Given the description of an element on the screen output the (x, y) to click on. 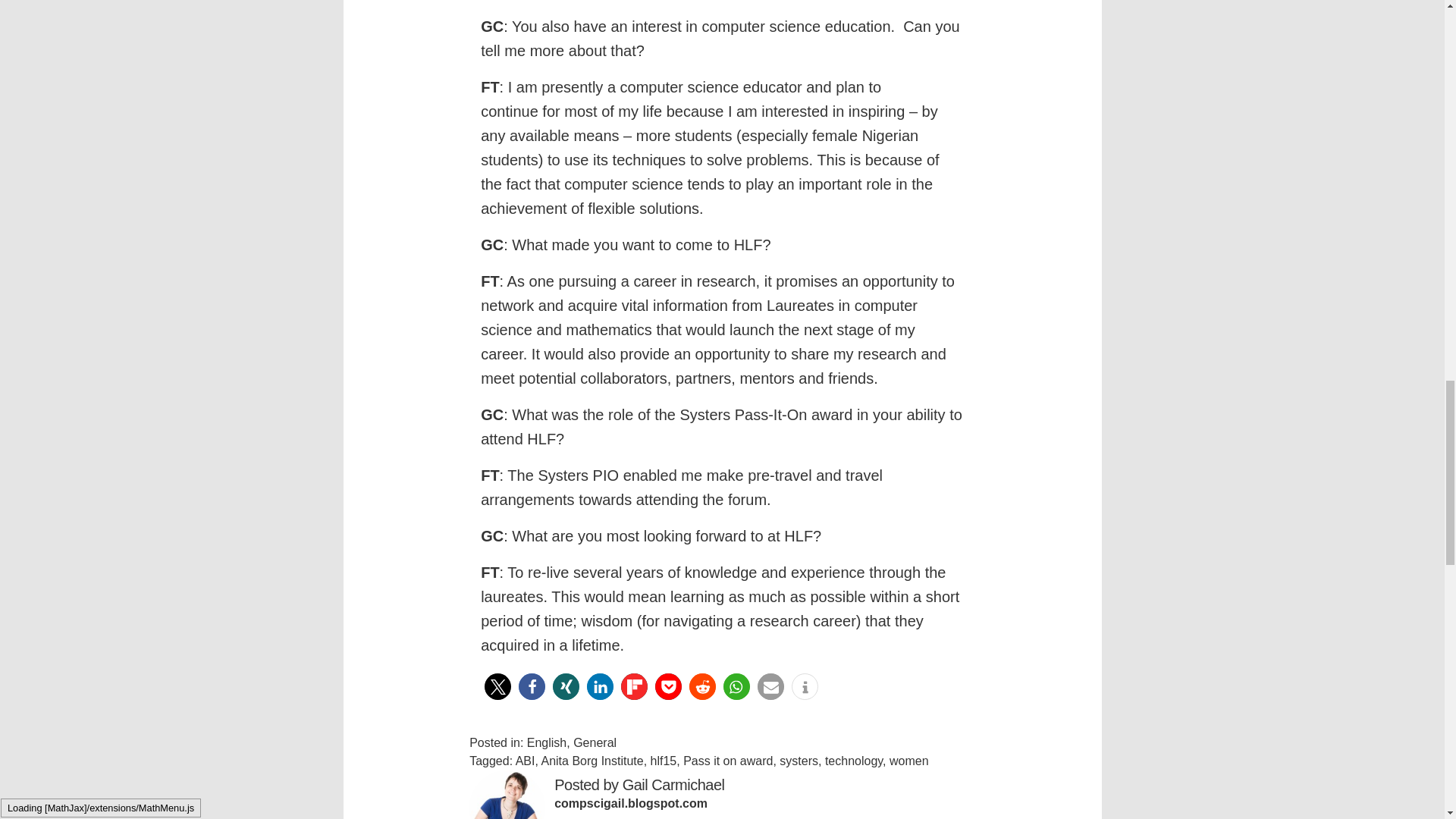
Share on X (497, 686)
Share on Facebook (531, 686)
Share on XING (566, 686)
Share on LinkedIn (599, 686)
Share on Reddit (702, 686)
Save to Pocket (668, 686)
Share on Flipboard (634, 686)
